Given the description of an element on the screen output the (x, y) to click on. 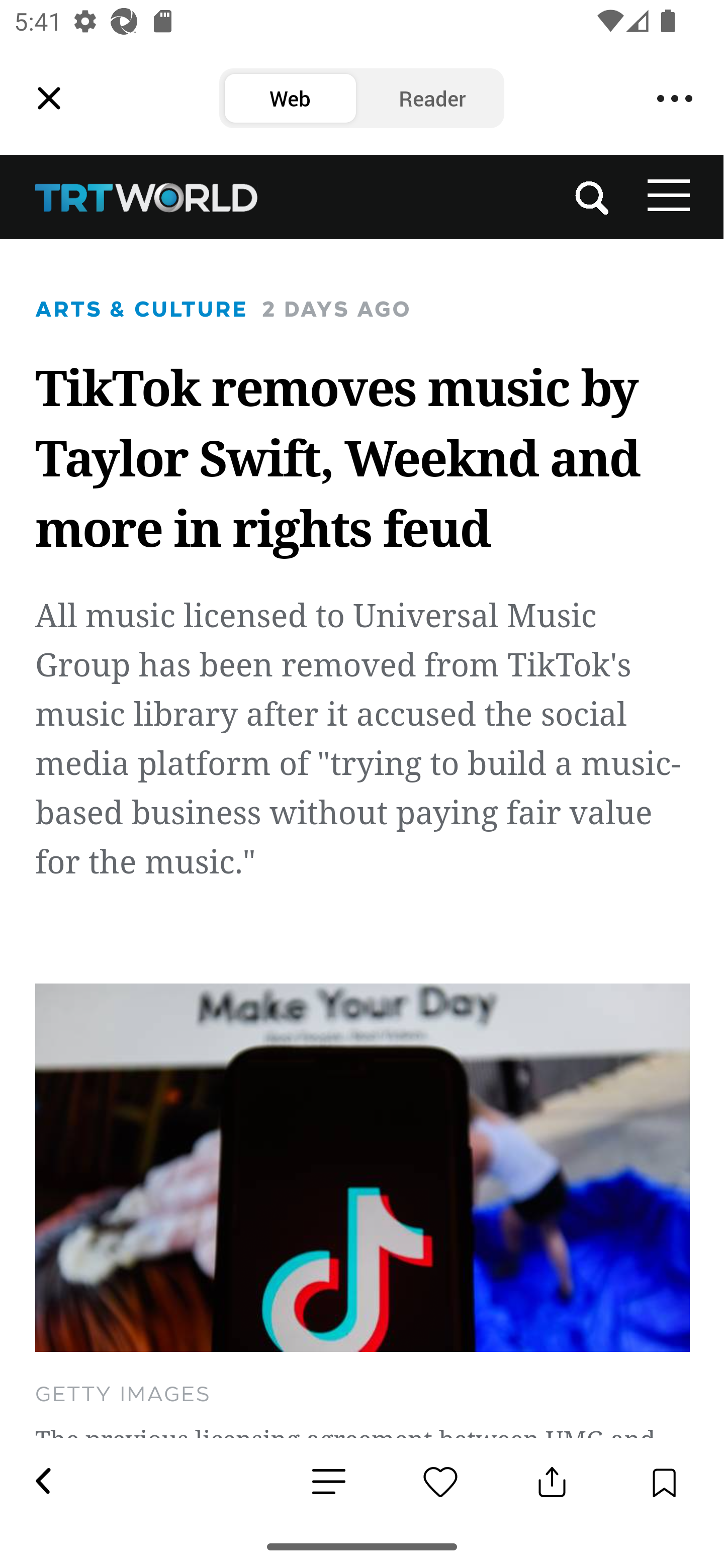
Reader (432, 98)
Menu (674, 98)
Leading Icon (49, 98)
TRT WORLD (147, 196)
ARTS & CULTURE (142, 308)
Back Button (42, 1481)
News Detail Emotion (440, 1481)
Share Button (551, 1481)
Save Button (663, 1481)
News Detail Emotion (329, 1482)
